Given the description of an element on the screen output the (x, y) to click on. 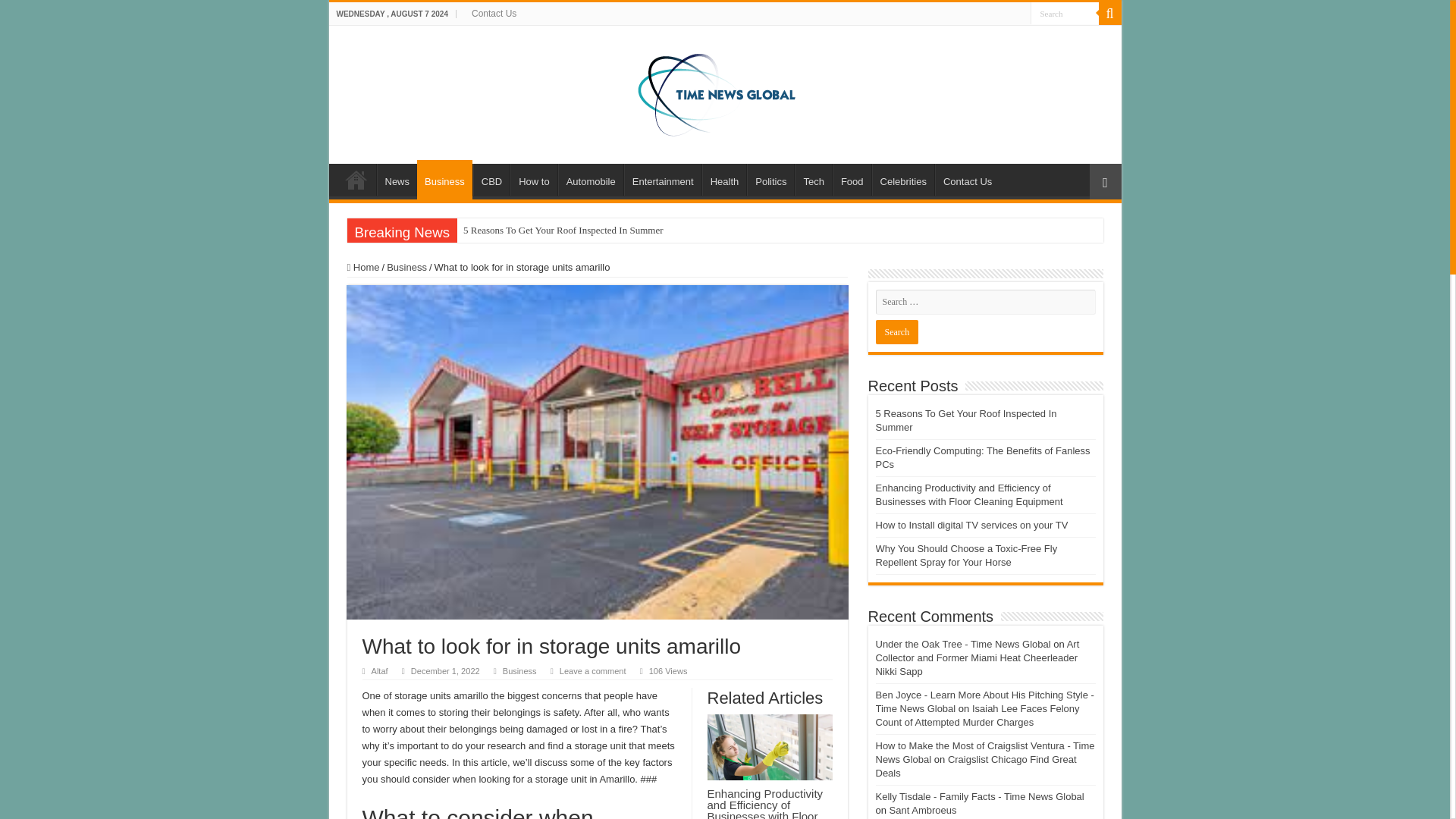
News (395, 179)
Search (896, 331)
Health (723, 179)
Politics (769, 179)
Celebrities (903, 179)
Time News Global (725, 91)
Contact Us (494, 13)
5 Reasons To Get Your Roof Inspected In Summer (563, 230)
5 Reasons To Get Your Roof Inspected In Summer (563, 230)
Business (443, 179)
